Given the description of an element on the screen output the (x, y) to click on. 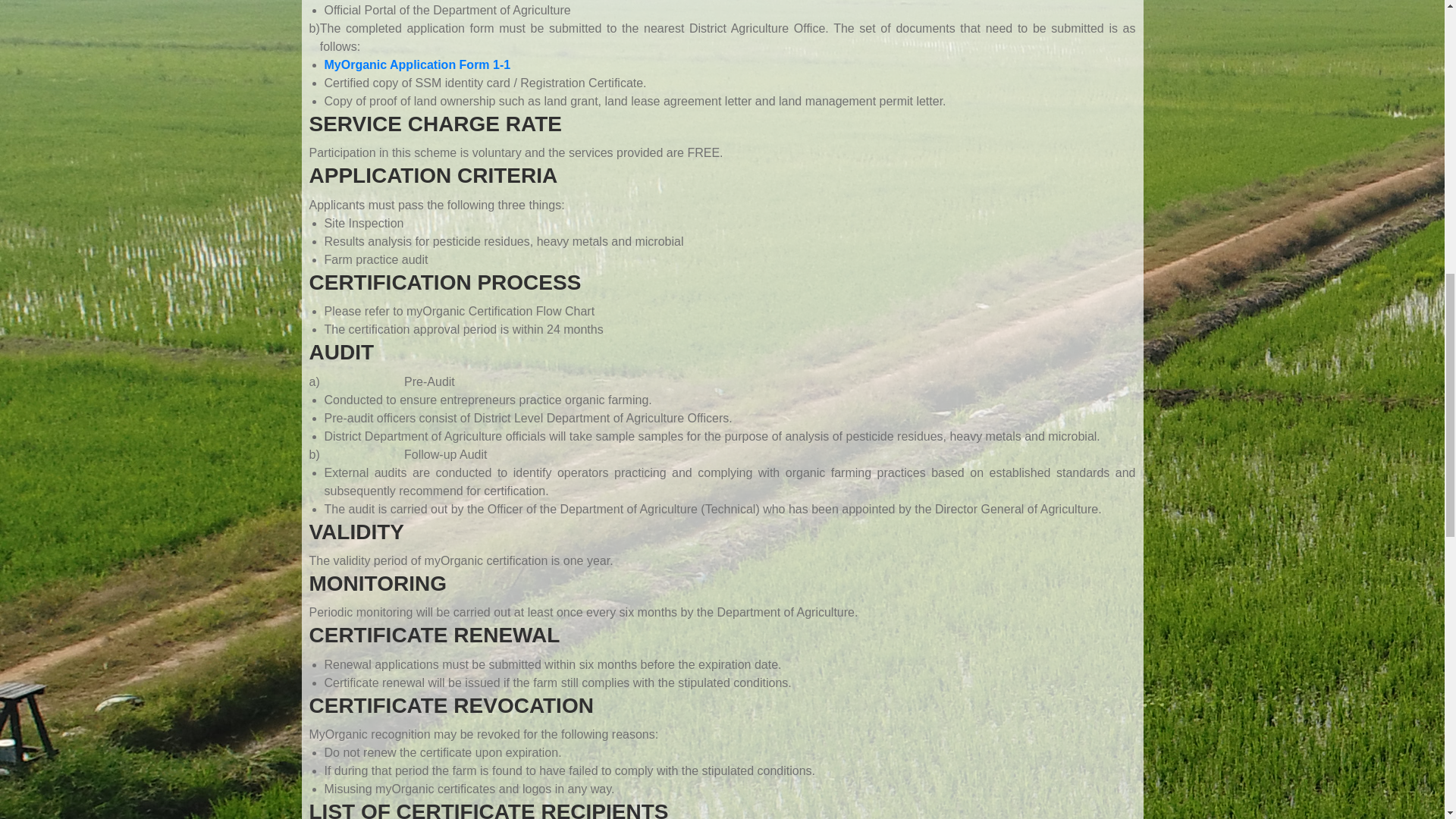
MyOrganic Application Form 1-1 (417, 64)
